Given the description of an element on the screen output the (x, y) to click on. 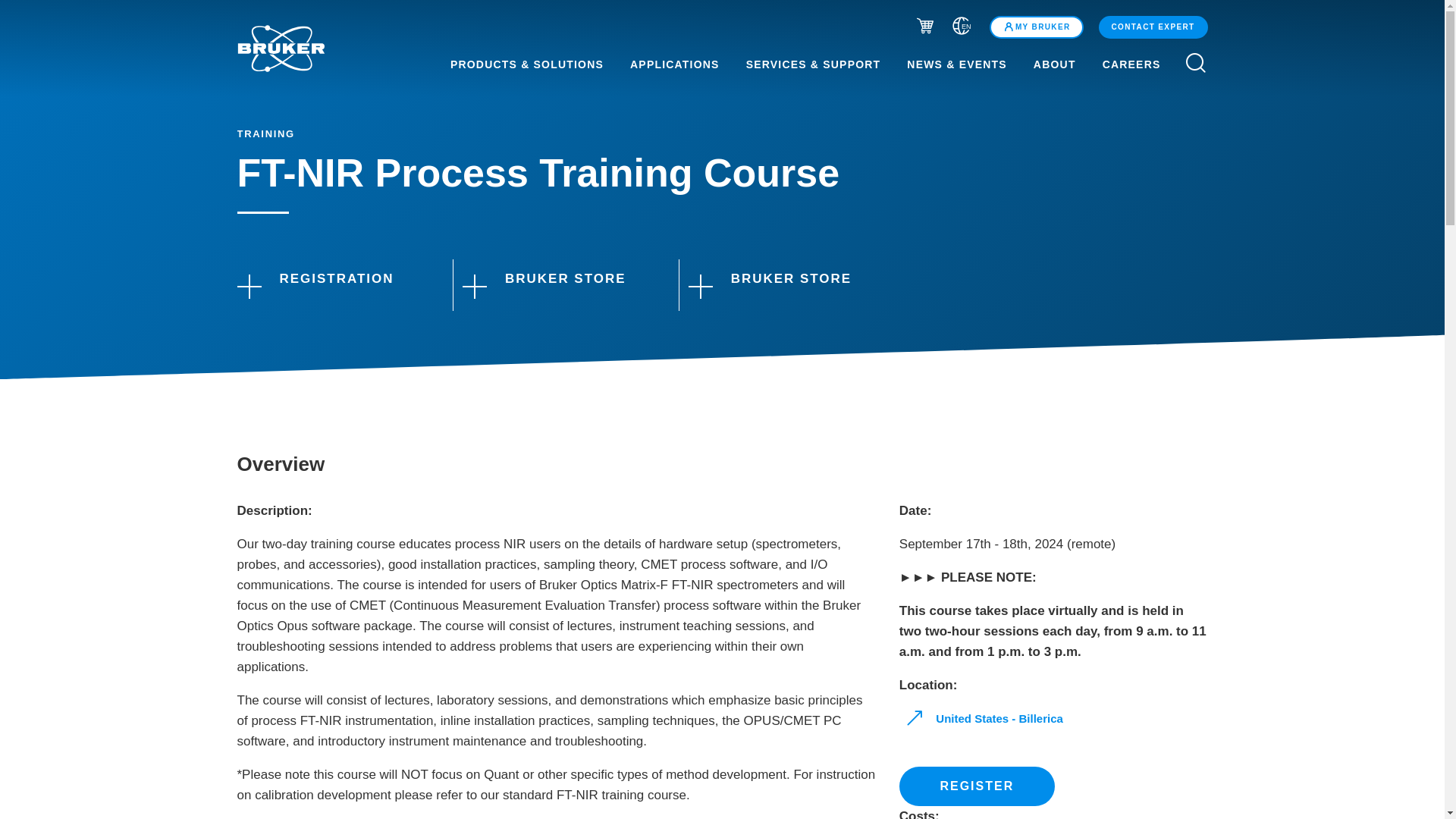
Login (1036, 26)
BRUKER STORE (557, 284)
REGISTRATION (330, 284)
BRUKER STORE (782, 284)
United States - Billerica (986, 718)
United States - Billerica (986, 718)
CONTACT EXPERT (1153, 26)
APPLICATIONS (674, 64)
MY BRUKER (1036, 26)
REGISTER (976, 785)
